Given the description of an element on the screen output the (x, y) to click on. 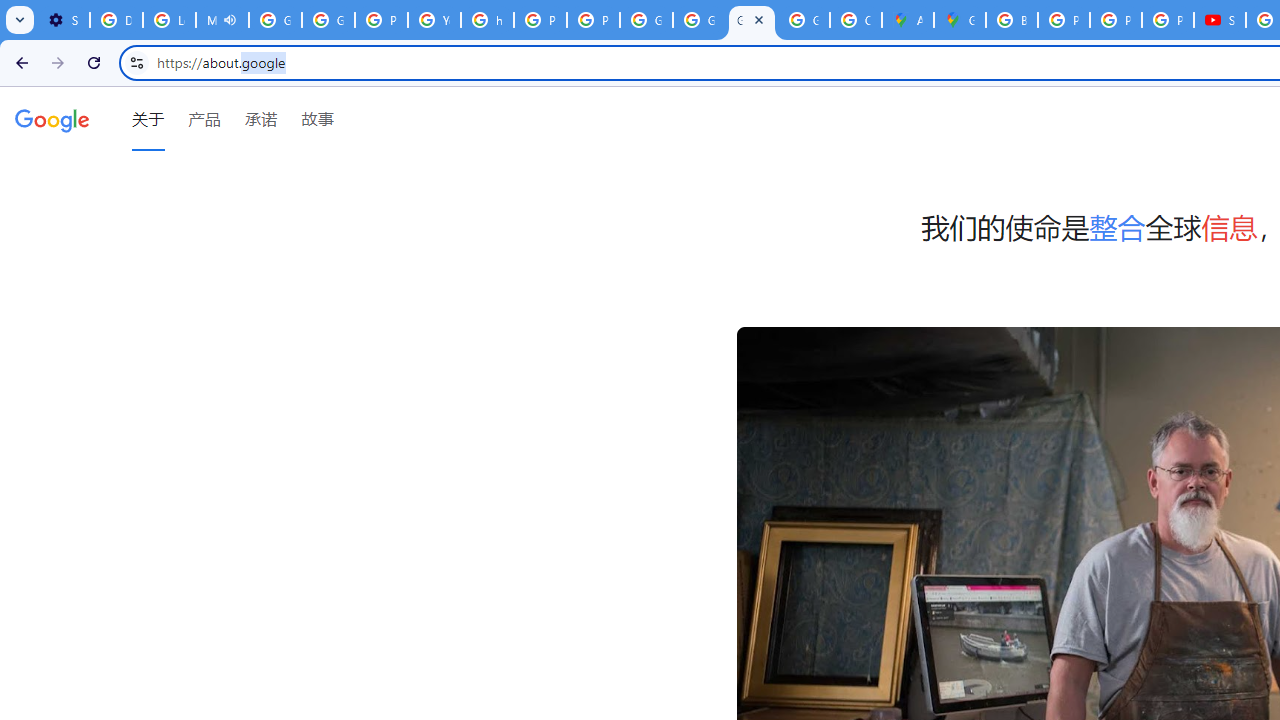
Delete photos & videos - Computer - Google Photos Help (116, 20)
Blogger Policies and Guidelines - Transparency Center (1011, 20)
Google Maps (959, 20)
